Given the description of an element on the screen output the (x, y) to click on. 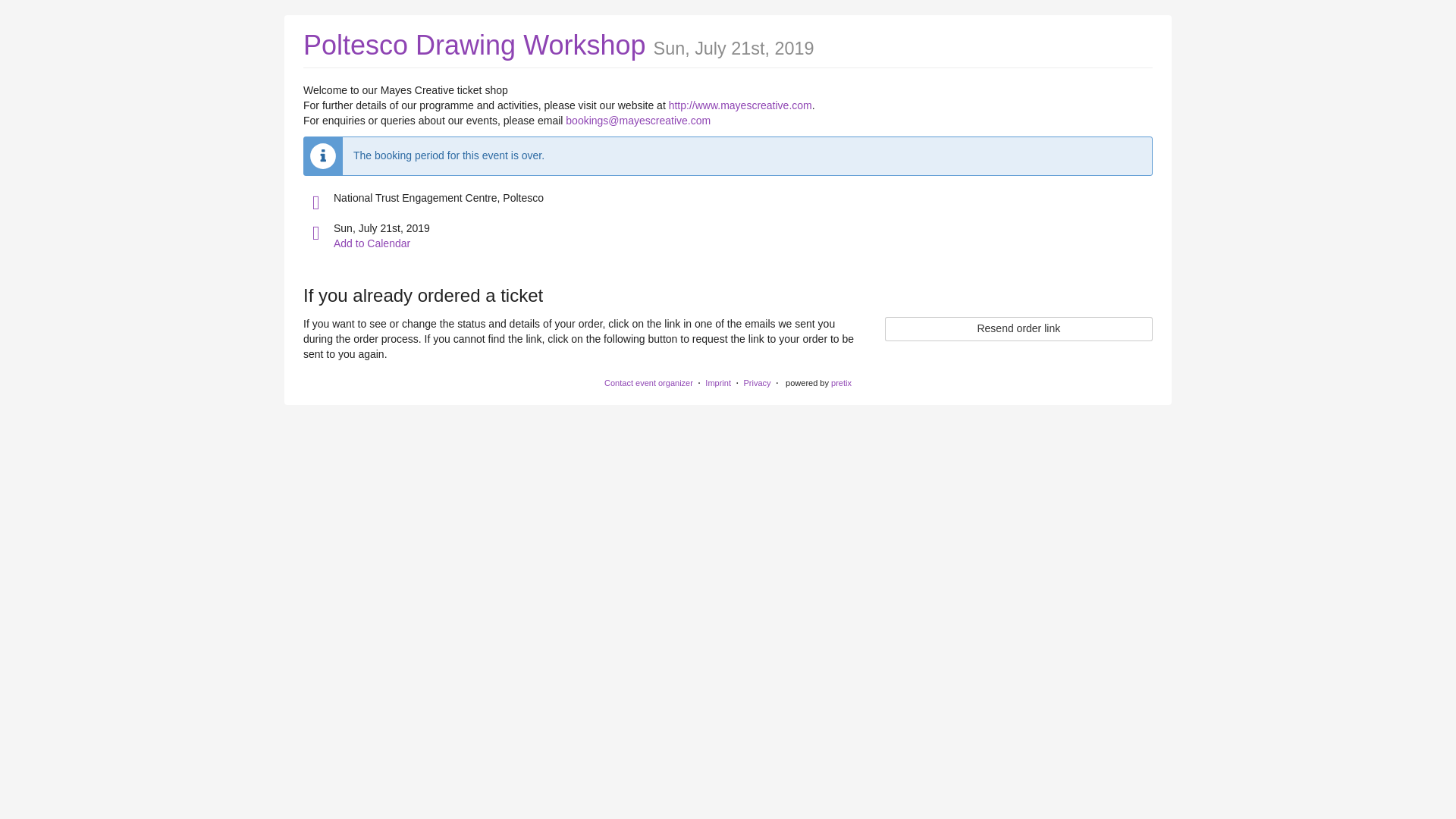
pretix (841, 382)
Poltesco Drawing Workshop (474, 44)
Contact event organizer (648, 382)
Resend order link (1019, 328)
Privacy (756, 382)
When does the event happen? (315, 233)
Where does the event happen? (315, 202)
Imprint (717, 382)
Add to Calendar (371, 243)
